Given the description of an element on the screen output the (x, y) to click on. 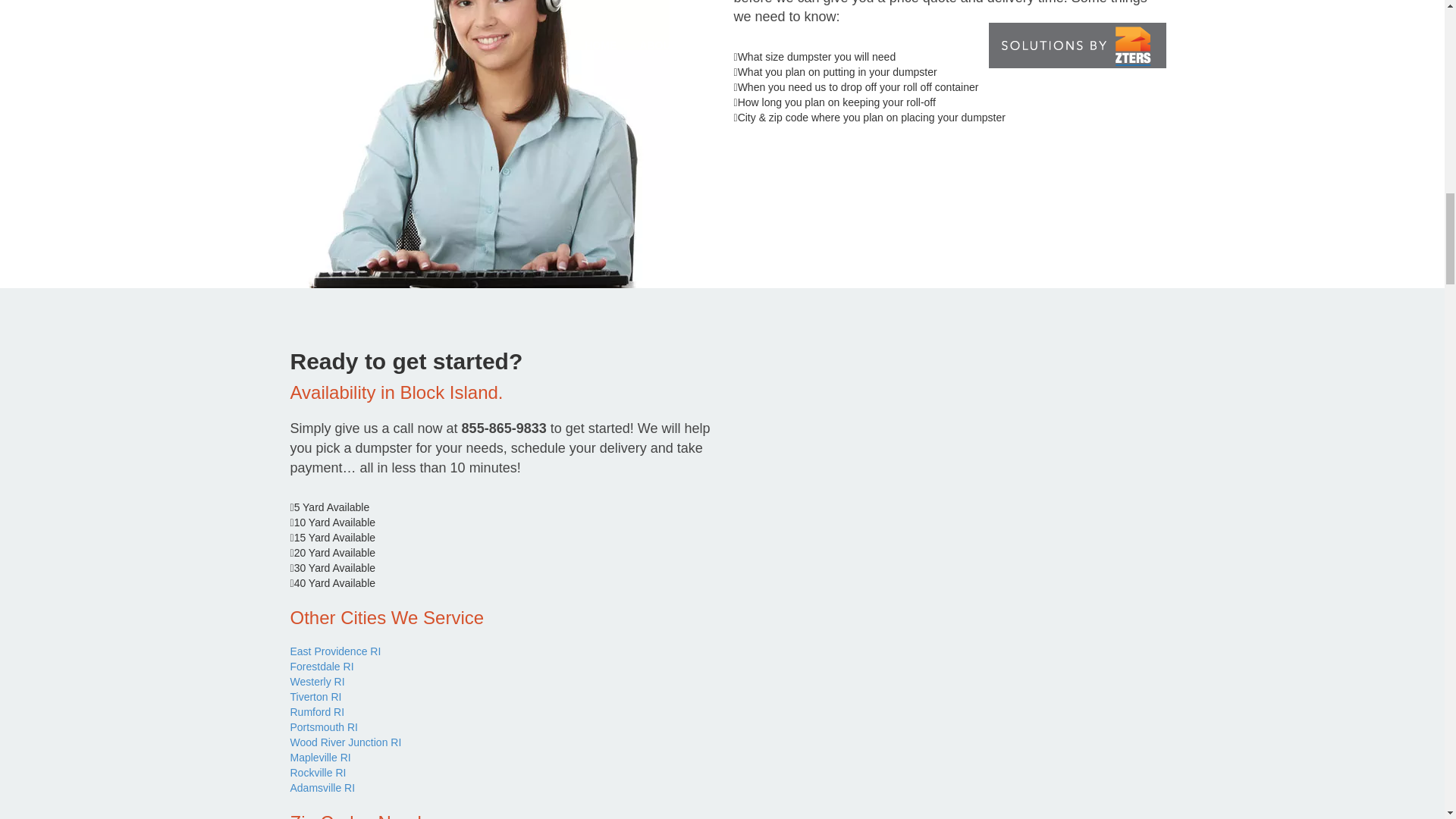
Tiverton RI (314, 696)
Portsmouth RI (322, 727)
Mapleville RI (319, 757)
East Providence RI (334, 651)
Westerly RI (316, 681)
Forestdale RI (321, 666)
Wood River Junction RI (345, 742)
Rumford RI (316, 711)
Adamsville RI (322, 787)
Rockville RI (317, 772)
